Given the description of an element on the screen output the (x, y) to click on. 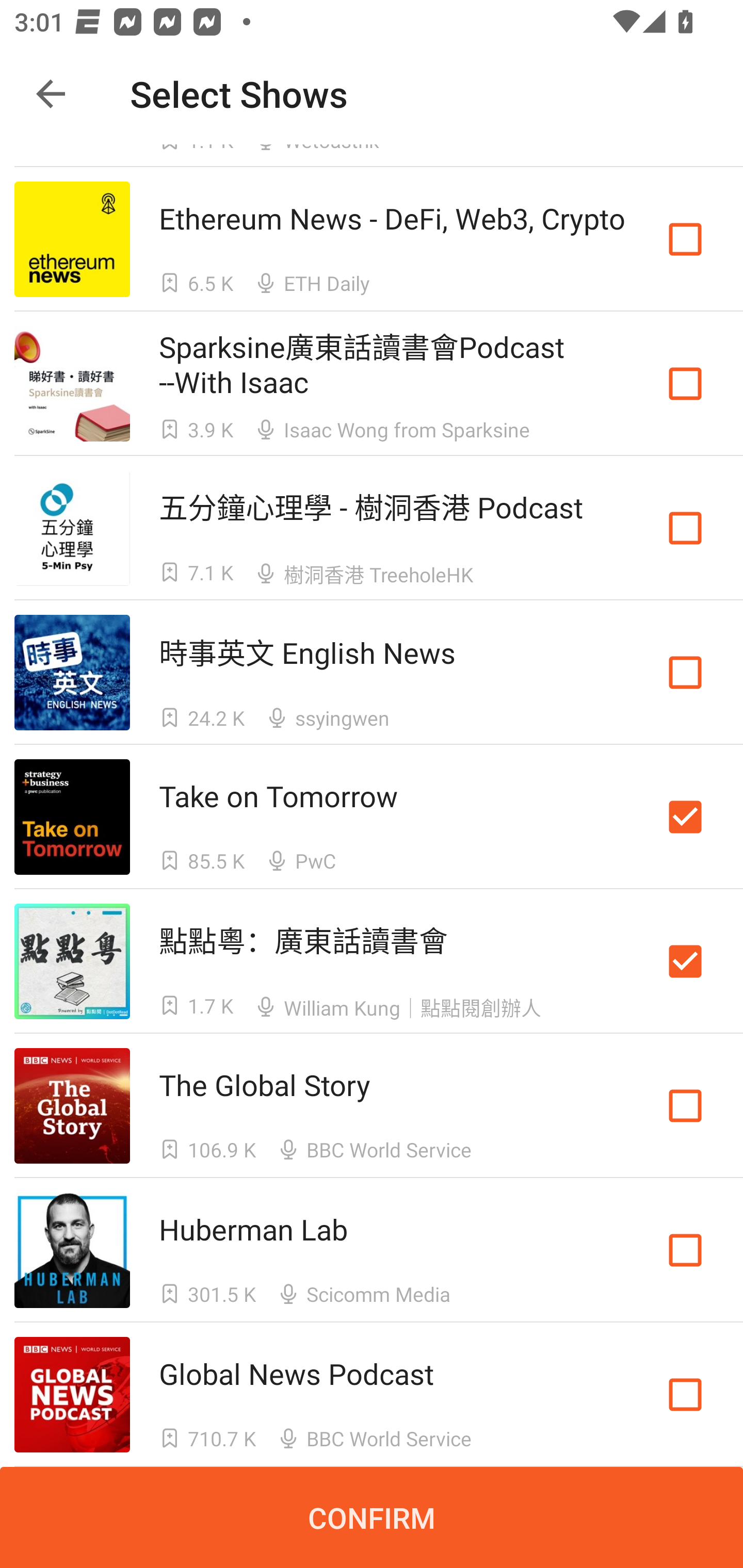
Navigate up (50, 93)
Take on Tomorrow Take on Tomorrow  85.5 K  PwC (371, 816)
CONFIRM (371, 1517)
